Given the description of an element on the screen output the (x, y) to click on. 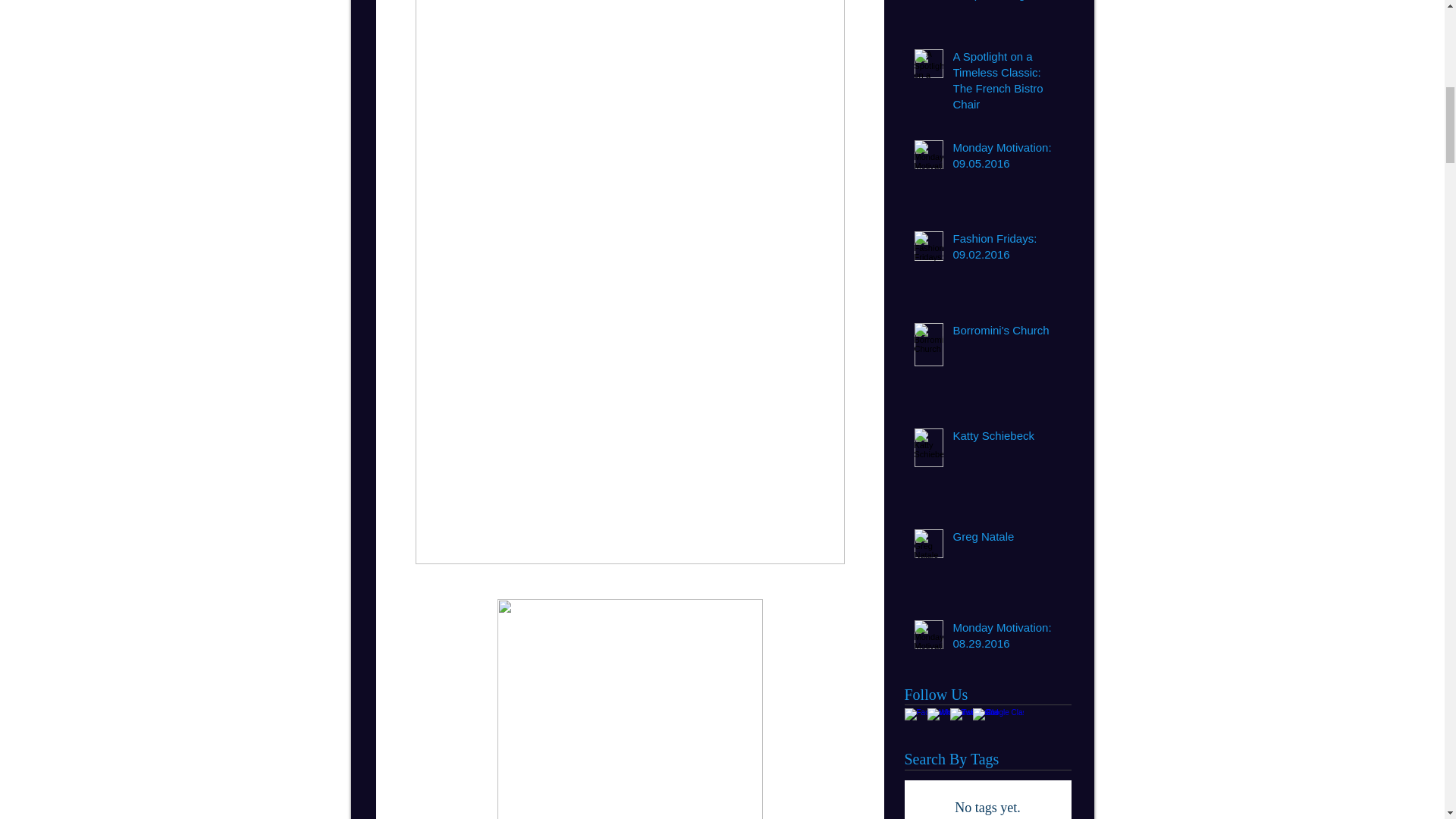
Art I Saw and Liked: Mesple 'Killing Time' (1006, 4)
Fashion Fridays: 09.02.2016 (1006, 249)
Monday Motivation: 09.05.2016 (1006, 158)
Greg Natale (1006, 539)
Katty Schiebeck (1006, 438)
A Spotlight on a Timeless Classic: The French Bistro Chair (1006, 82)
Monday Motivation: 08.29.2016 (1006, 638)
Borromini's Church (1006, 332)
